Given the description of an element on the screen output the (x, y) to click on. 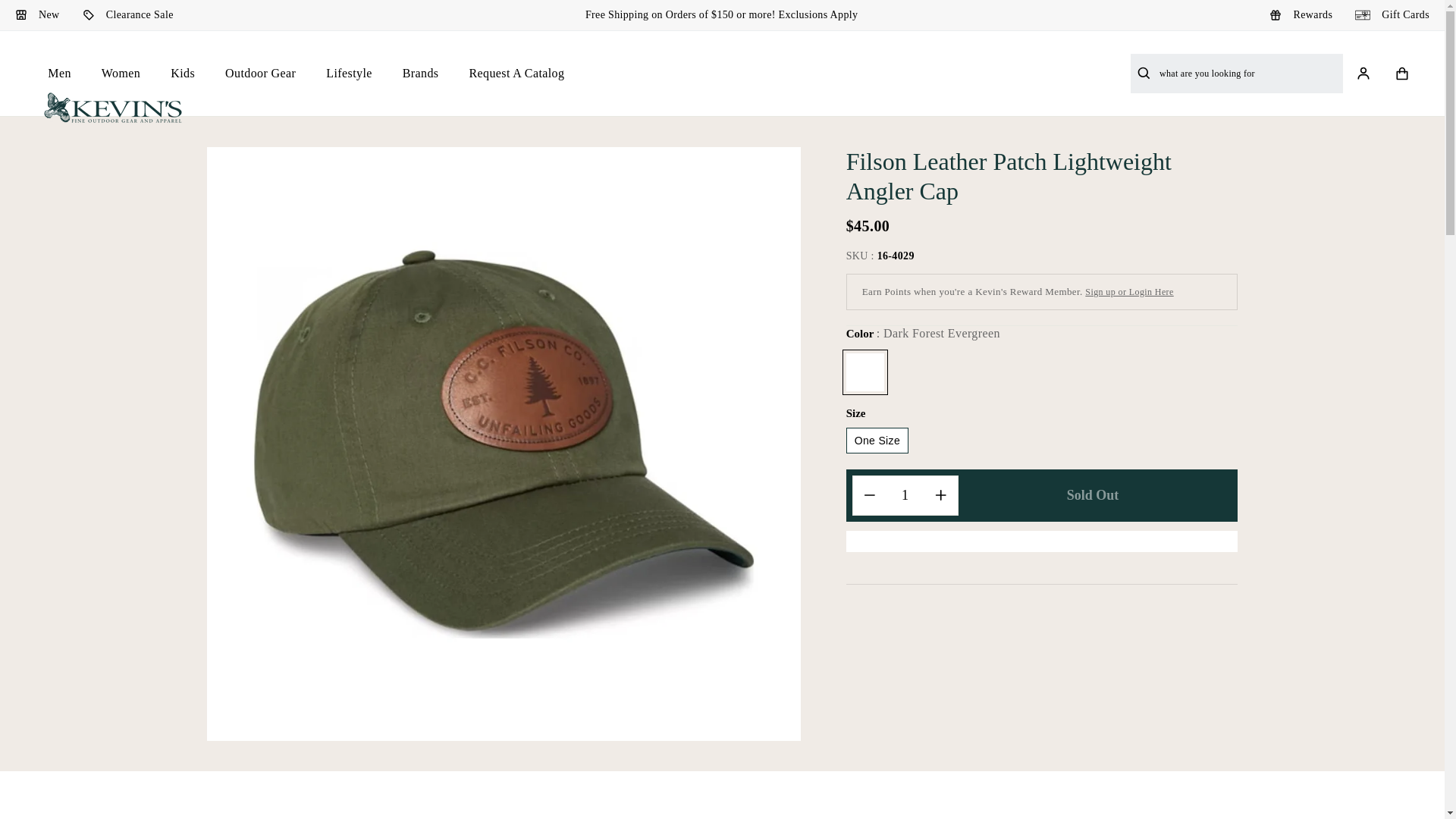
Rewards (1300, 15)
New (36, 15)
Clearance Sale (127, 15)
1 (904, 495)
Gift Cards (1392, 15)
